Given the description of an element on the screen output the (x, y) to click on. 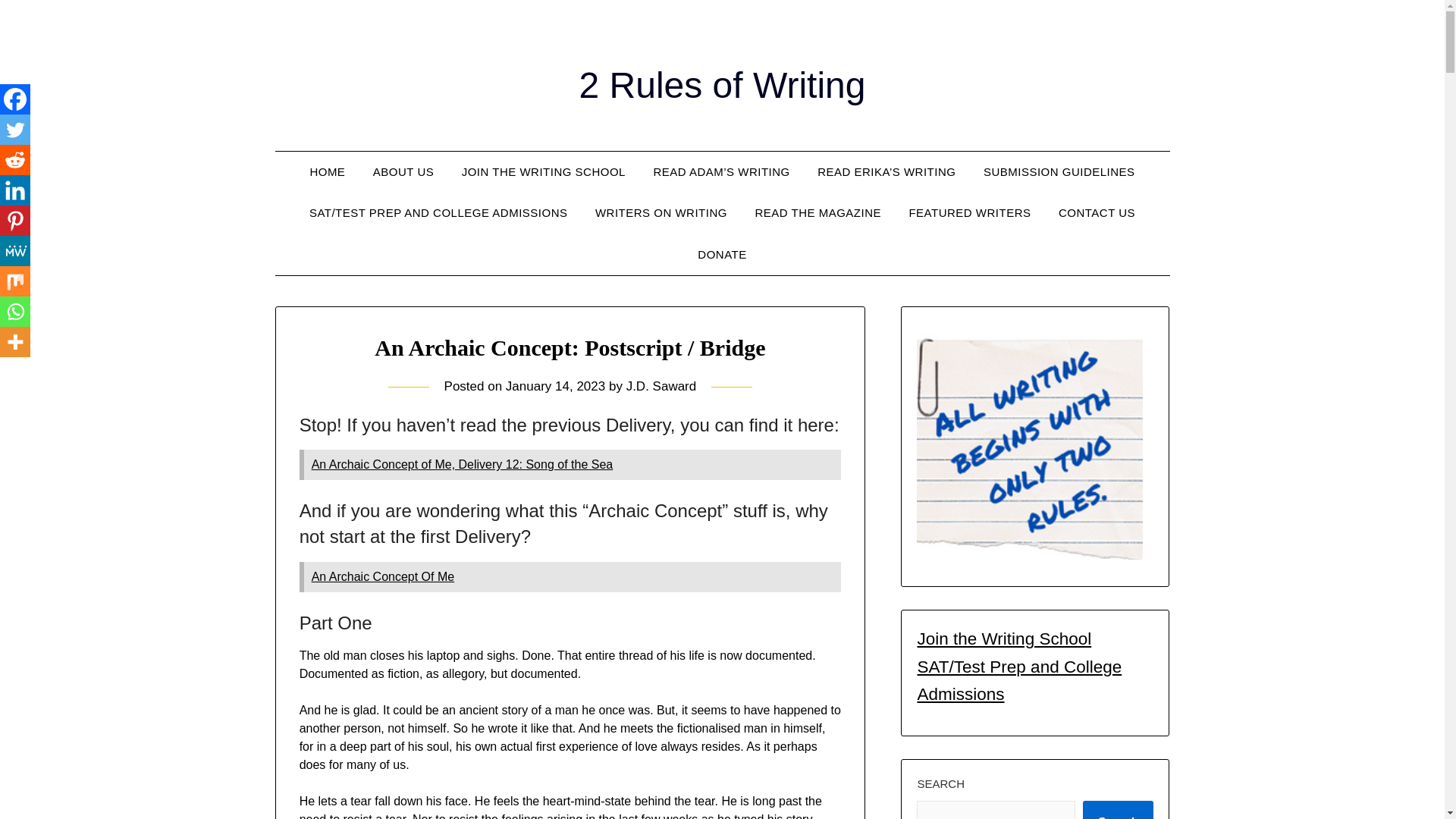
ABOUT US (403, 171)
WRITERS ON WRITING (661, 212)
J.D. Saward (661, 386)
Reddit (15, 159)
CONTACT US (1096, 212)
HOME (326, 171)
2 Rules of Writing (722, 85)
DONATE (721, 254)
Facebook (15, 99)
SUBMISSION GUIDELINES (1059, 171)
An Archaic Concept of Me, Delivery 12: Song of the Sea (461, 463)
January 14, 2023 (555, 386)
FEATURED WRITERS (969, 212)
Twitter (15, 129)
READ THE MAGAZINE (817, 212)
